Given the description of an element on the screen output the (x, y) to click on. 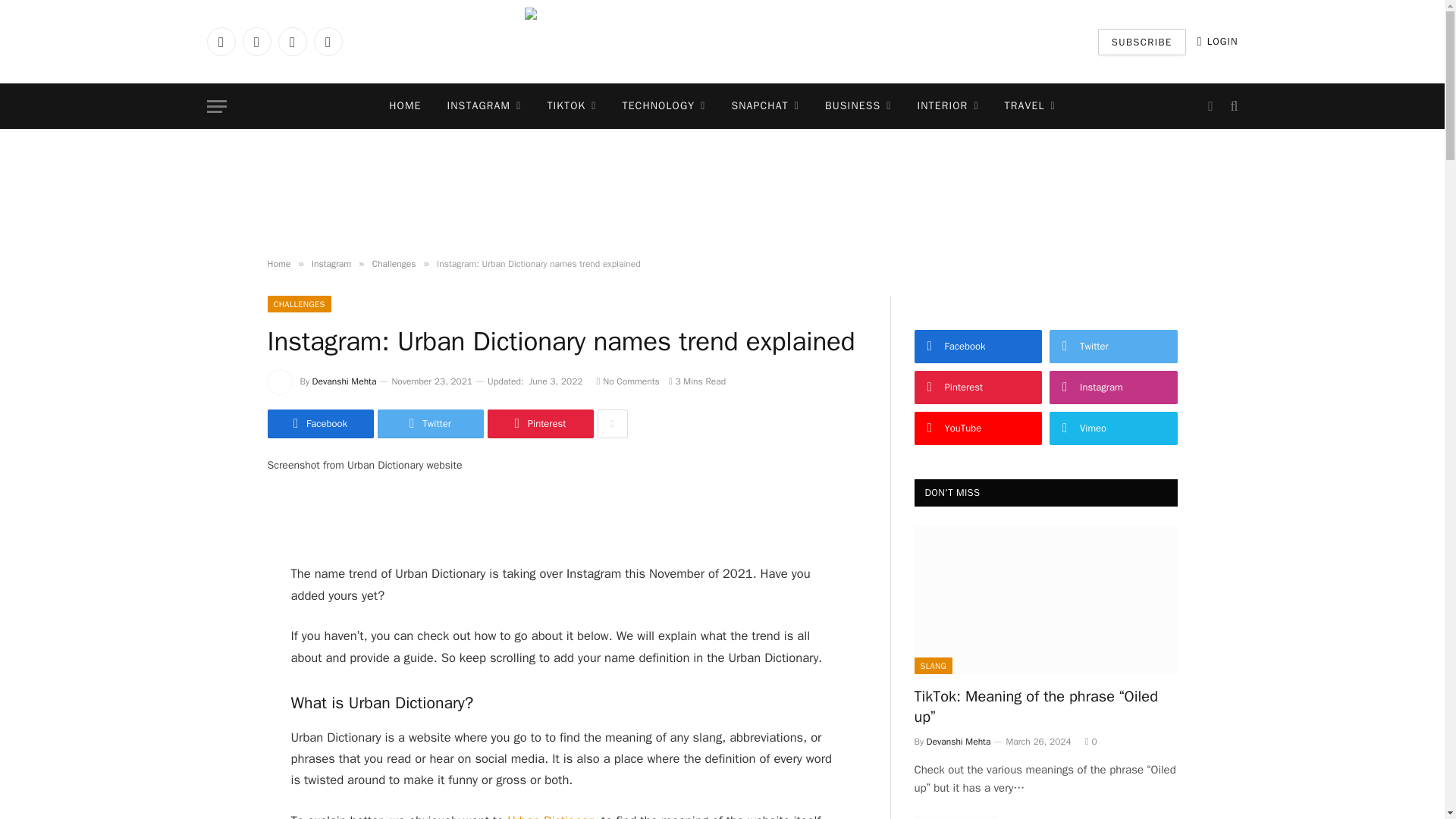
TIKTOK (571, 105)
TECHNOLOGY (664, 105)
Hashtag Hyena (722, 41)
SUBSCRIBE (1141, 41)
SNAPCHAT (764, 105)
Switch to Dark Design - easier on eyes. (1209, 106)
INSTAGRAM (483, 105)
BUSINESS (858, 105)
Facebook (220, 41)
LOGIN (1217, 41)
Share on Facebook (319, 423)
Share on Pinterest (539, 423)
HOME (404, 105)
Instagram (291, 41)
Vimeo (328, 41)
